Given the description of an element on the screen output the (x, y) to click on. 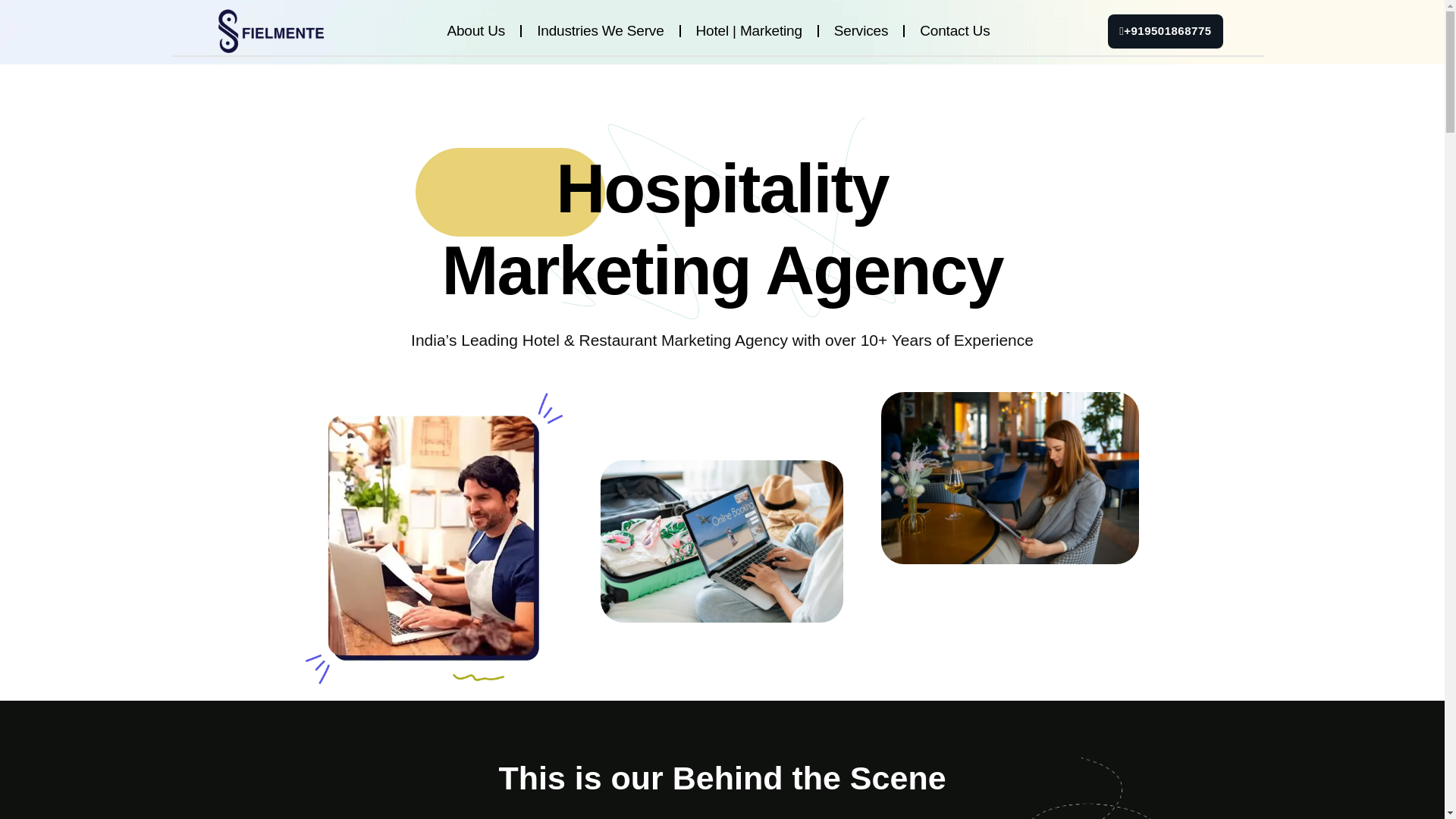
Contact Us (954, 30)
Services (860, 30)
About Us (474, 30)
Industries We Serve (599, 30)
